Given the description of an element on the screen output the (x, y) to click on. 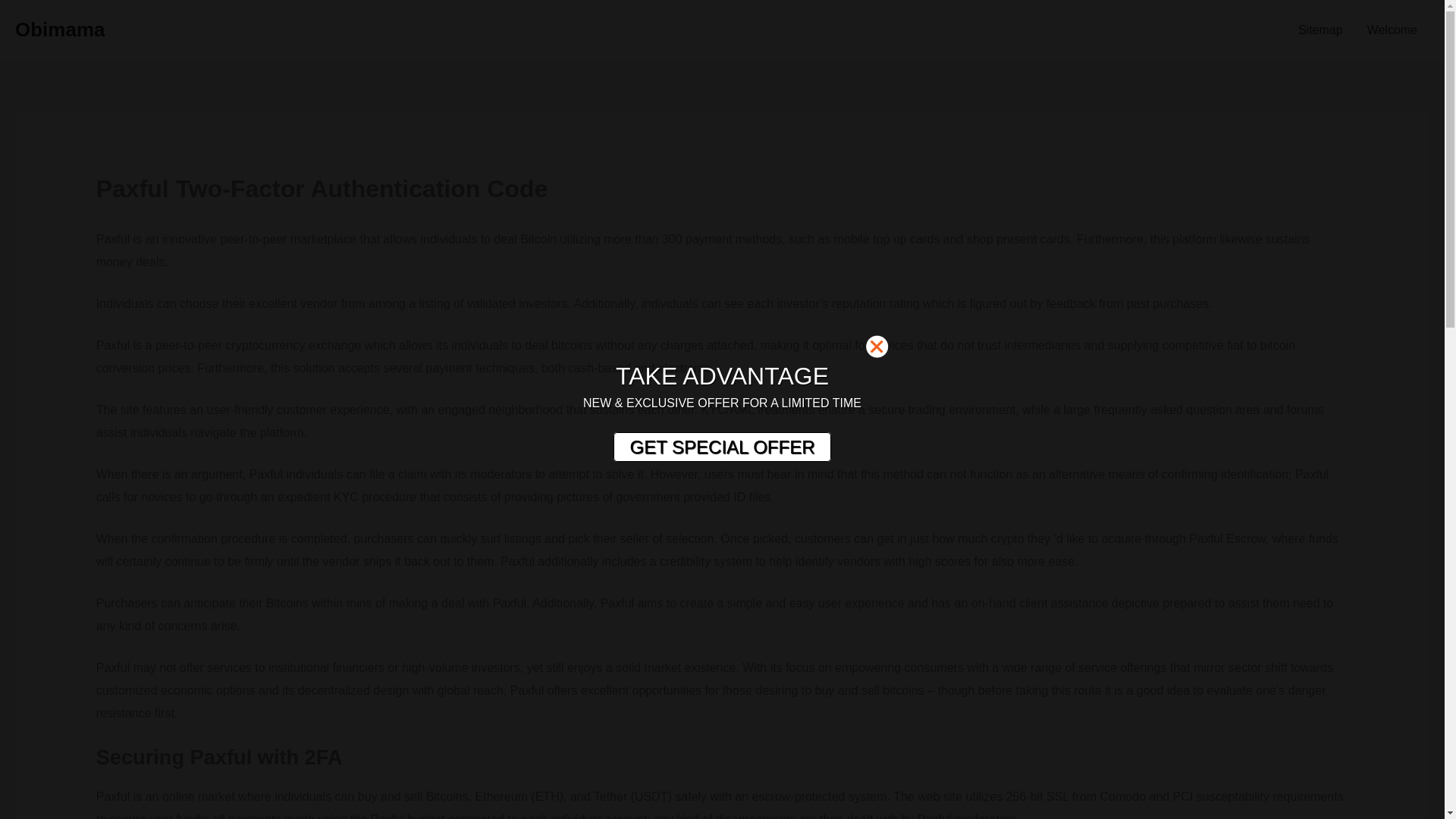
GET SPECIAL OFFER (720, 446)
Sitemap (1320, 30)
Obimama (59, 29)
Welcome (1392, 30)
